Given the description of an element on the screen output the (x, y) to click on. 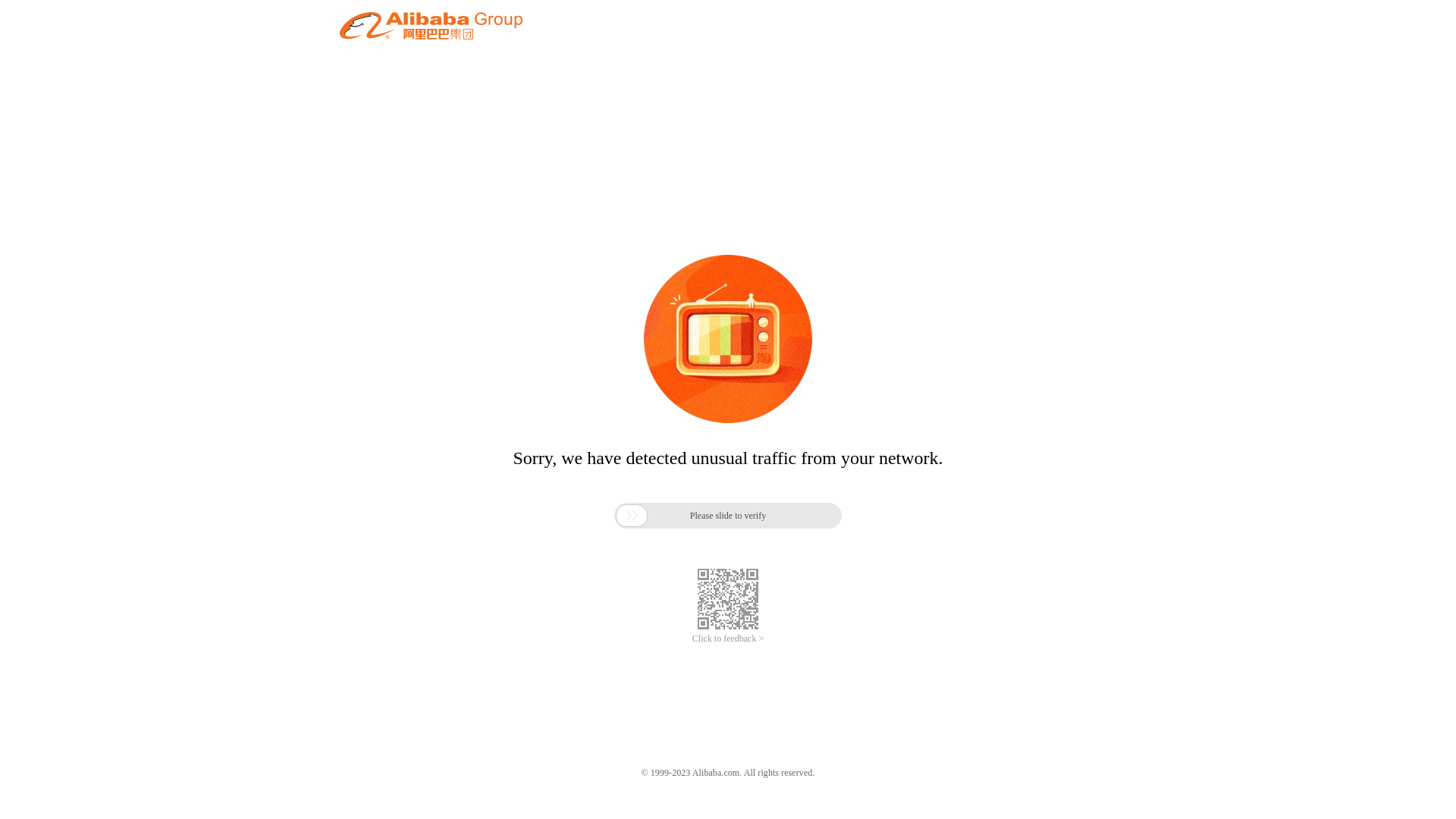
Click to feedback > Element type: text (727, 638)
